Given the description of an element on the screen output the (x, y) to click on. 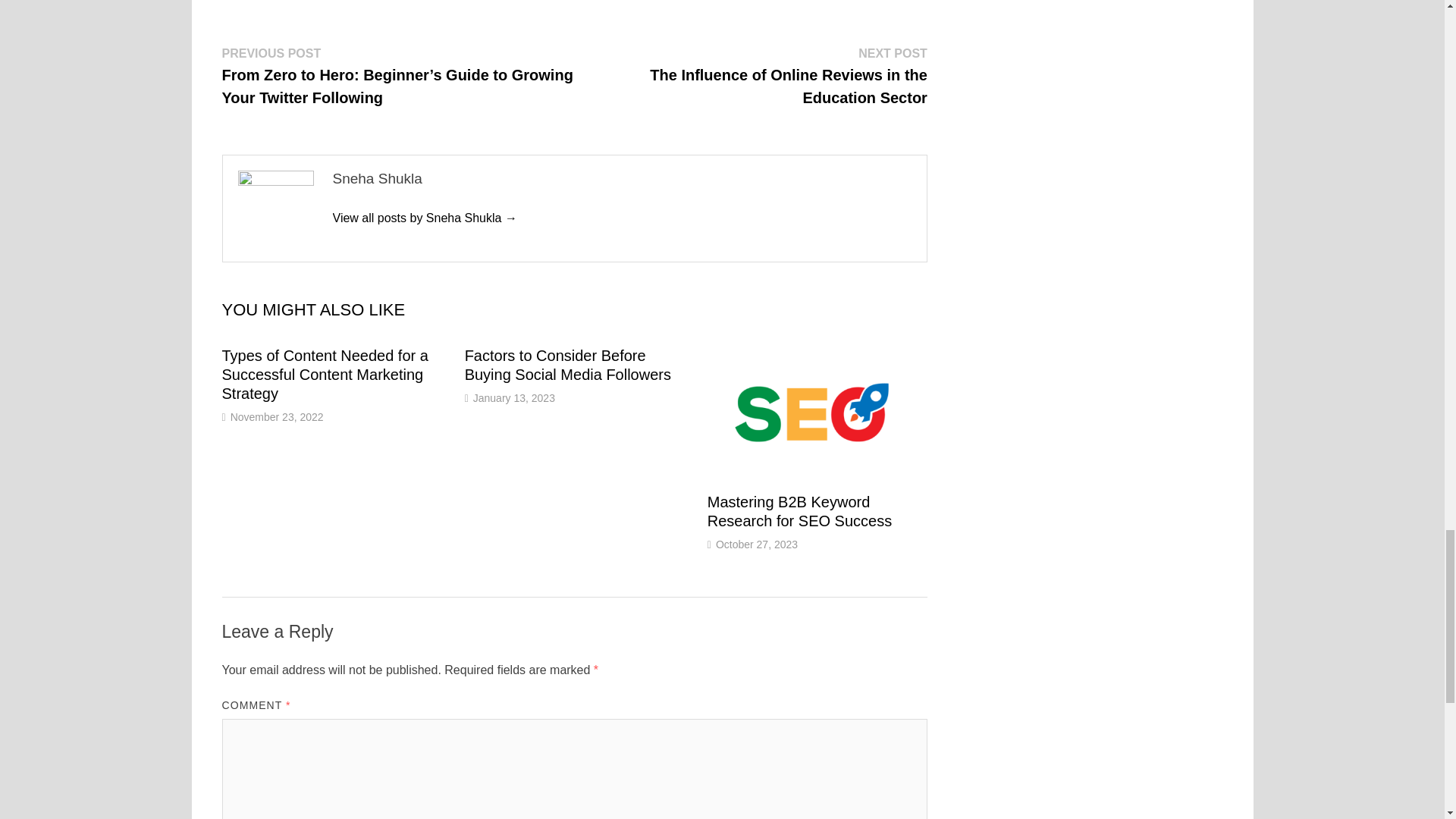
Sneha Shukla (423, 217)
Mastering B2B Keyword Research for SEO Success (799, 511)
Factors to Consider Before Buying Social Media Followers (567, 365)
